Given the description of an element on the screen output the (x, y) to click on. 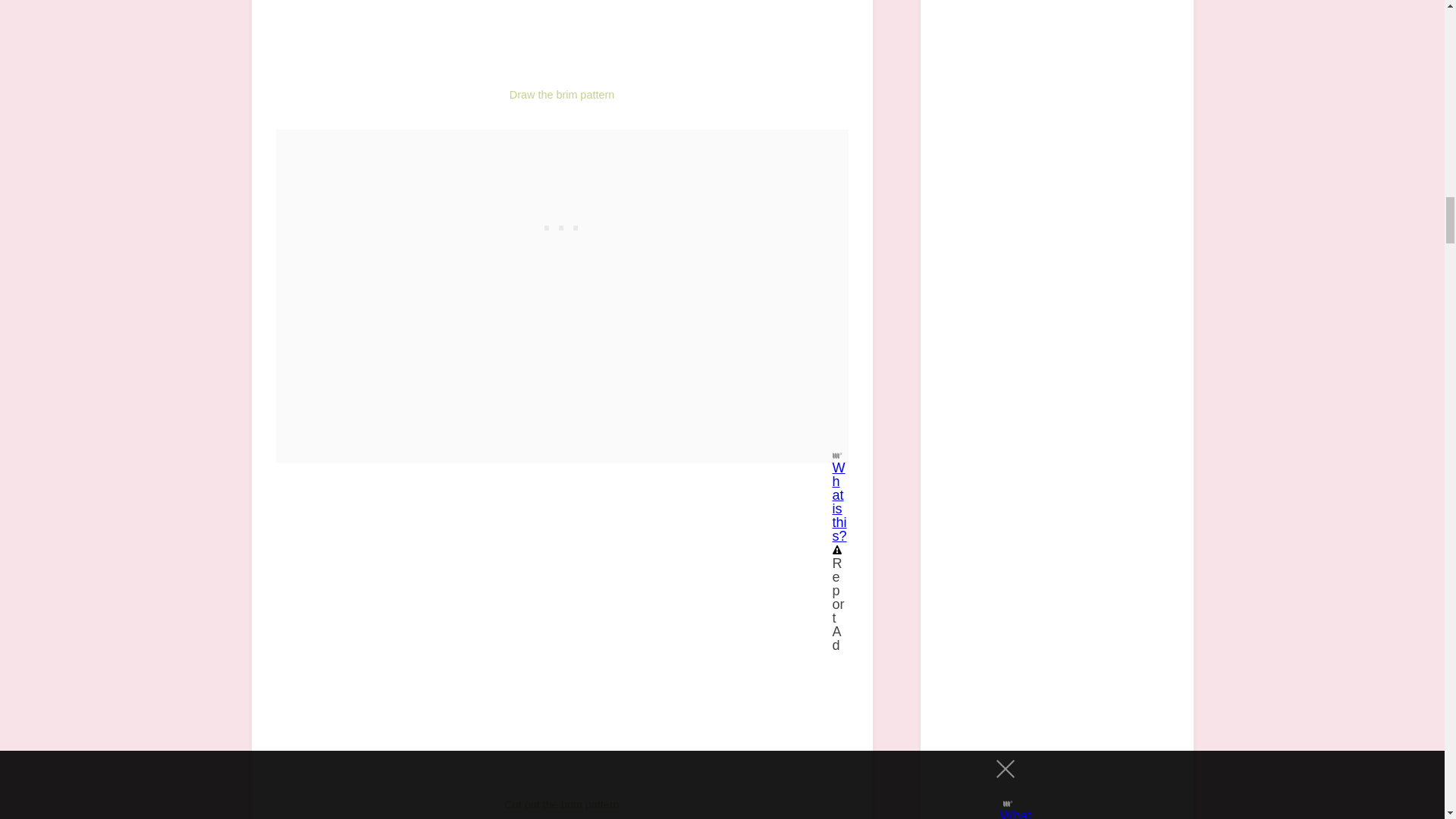
3rd party ad content (561, 224)
